Given the description of an element on the screen output the (x, y) to click on. 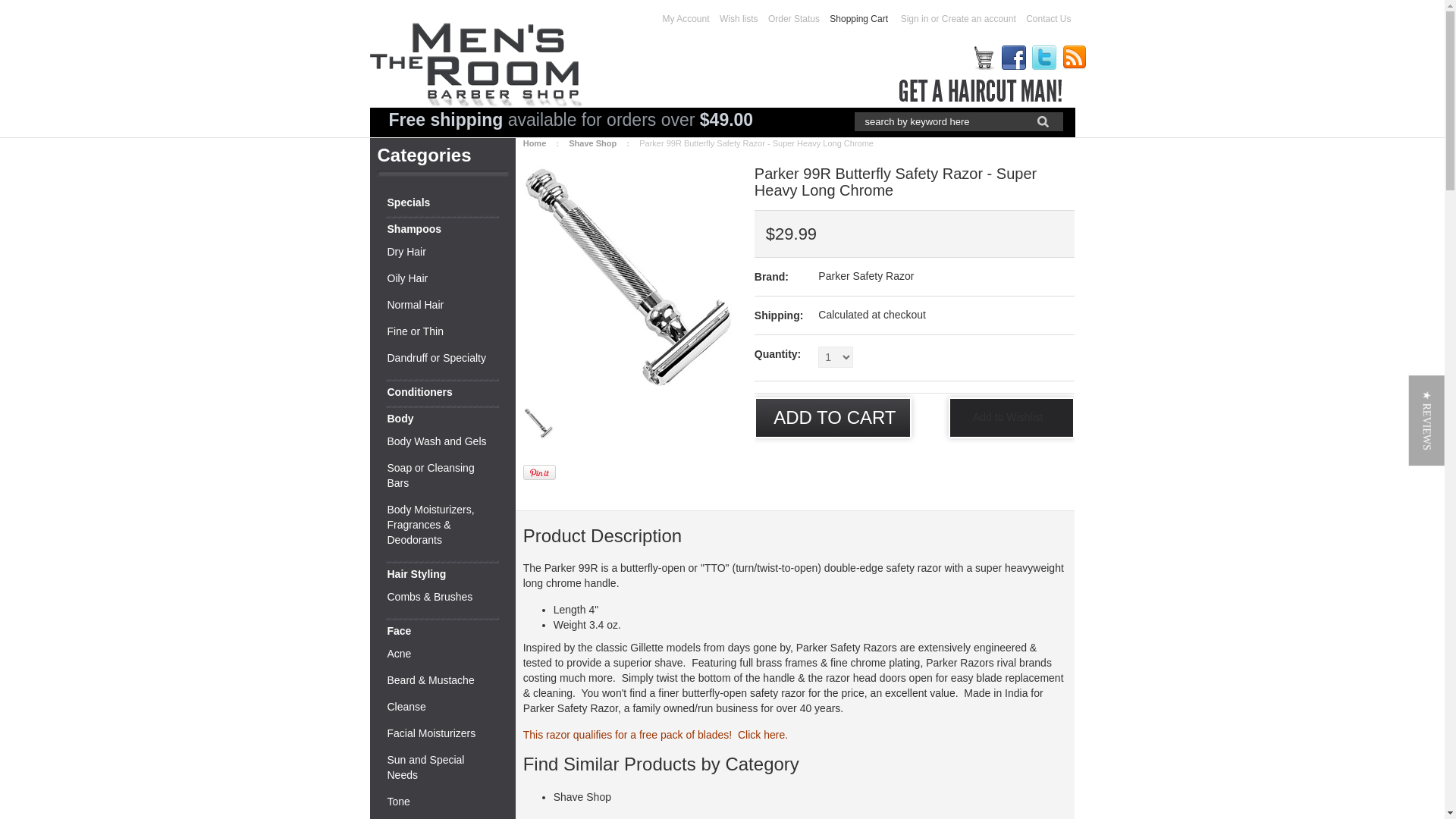
Add to Wishlist (1007, 417)
search by keyword here (938, 121)
Add to Wishlist (1007, 417)
Parker 99R (627, 277)
Search (1042, 121)
